Given the description of an element on the screen output the (x, y) to click on. 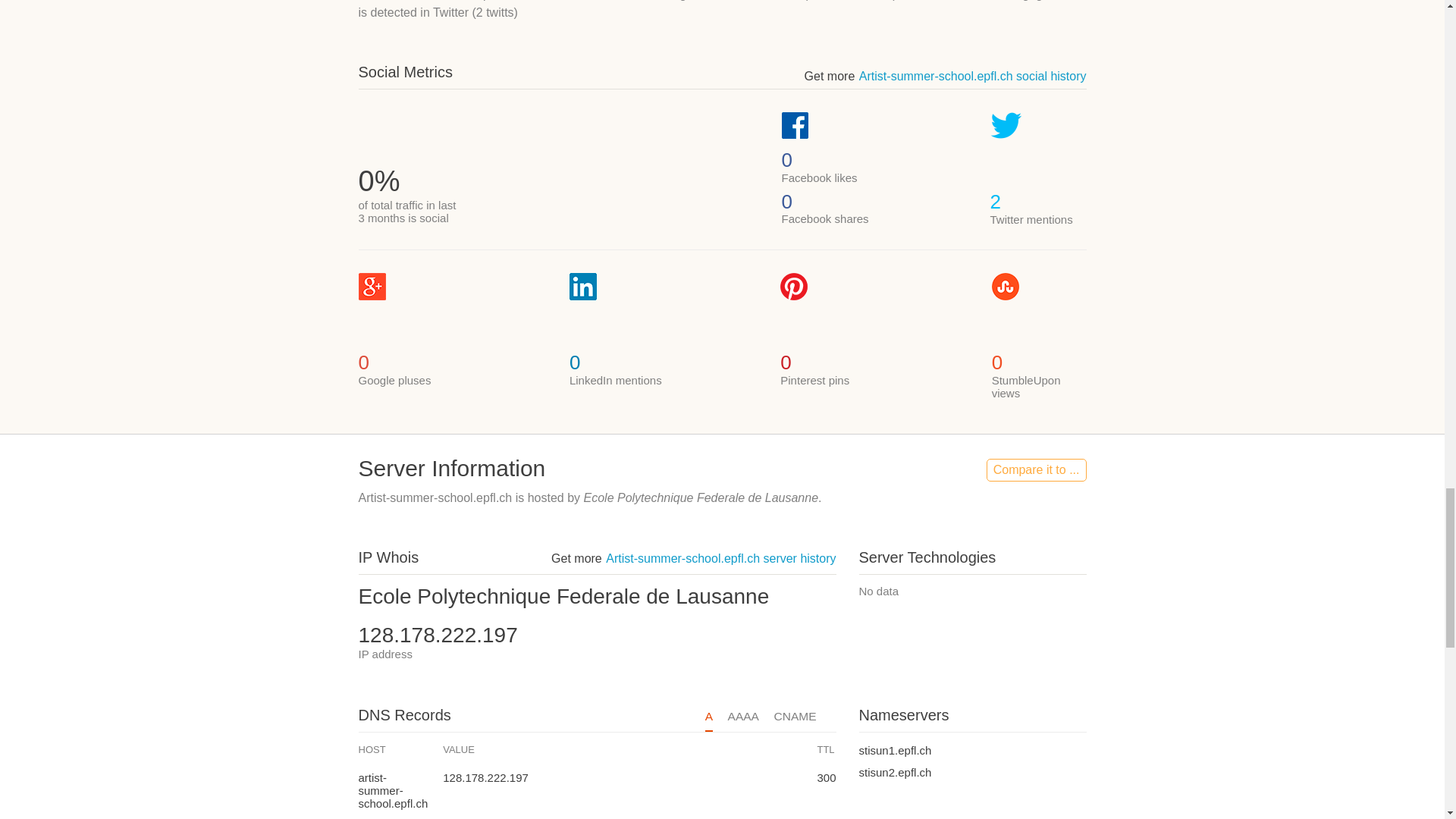
Compare it to ... (1036, 469)
Artist-summer-school.epfl.ch server history (720, 558)
Artist-summer-school.epfl.ch social history (972, 75)
